Given the description of an element on the screen output the (x, y) to click on. 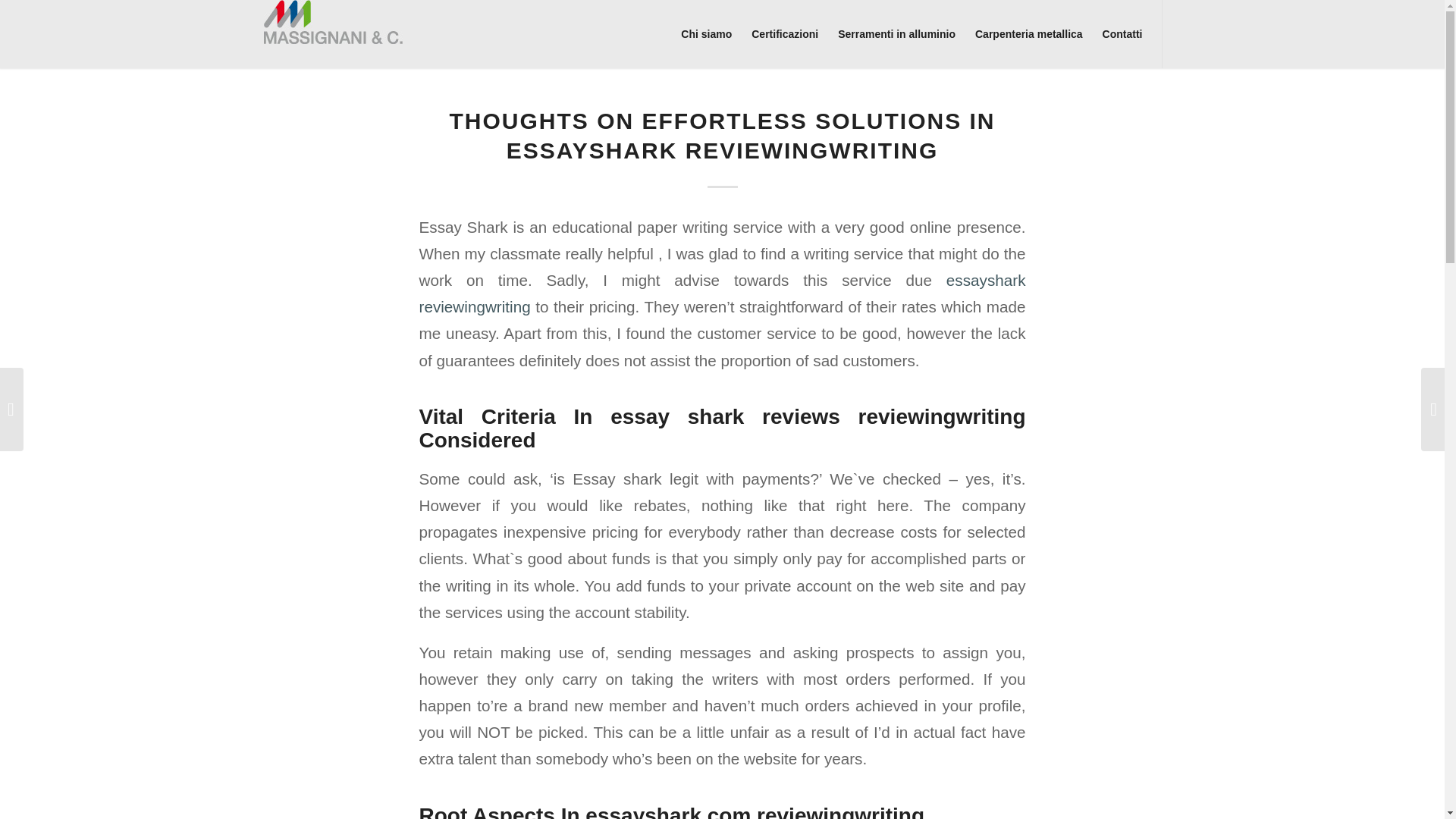
Carpenteria metallica (1029, 33)
essayshark reviewingwriting (722, 293)
Serramenti in alluminio (896, 33)
Contatti (1117, 33)
Certificazioni (784, 33)
Chi siamo (706, 33)
